Given the description of an element on the screen output the (x, y) to click on. 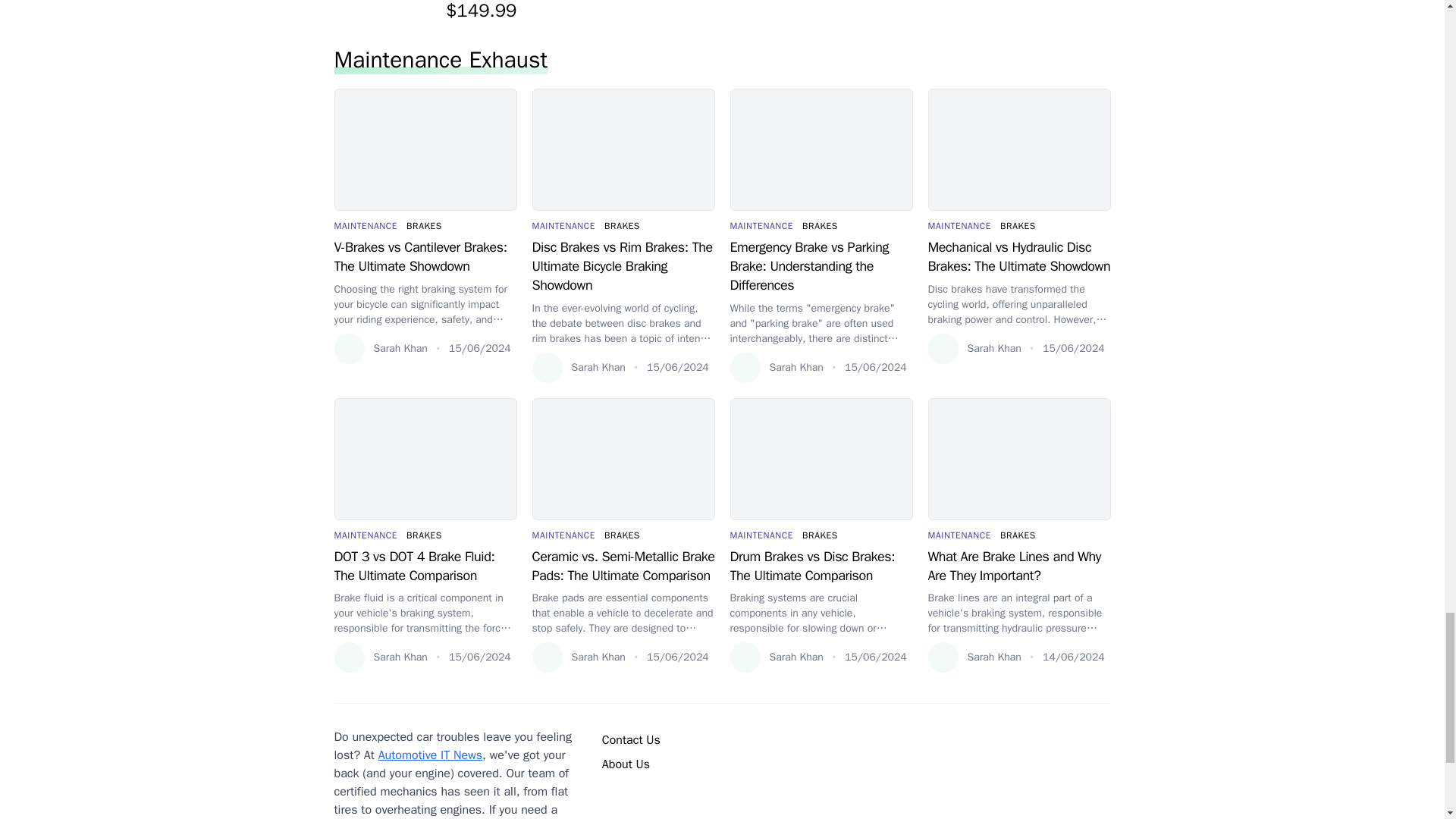
MAINTENANCE (365, 225)
BRAKES (622, 225)
BRAKES (424, 225)
Sarah Khan (379, 348)
V-Brakes vs Cantilever Brakes: The Ultimate Showdown (424, 257)
MAINTENANCE (563, 225)
